Given the description of an element on the screen output the (x, y) to click on. 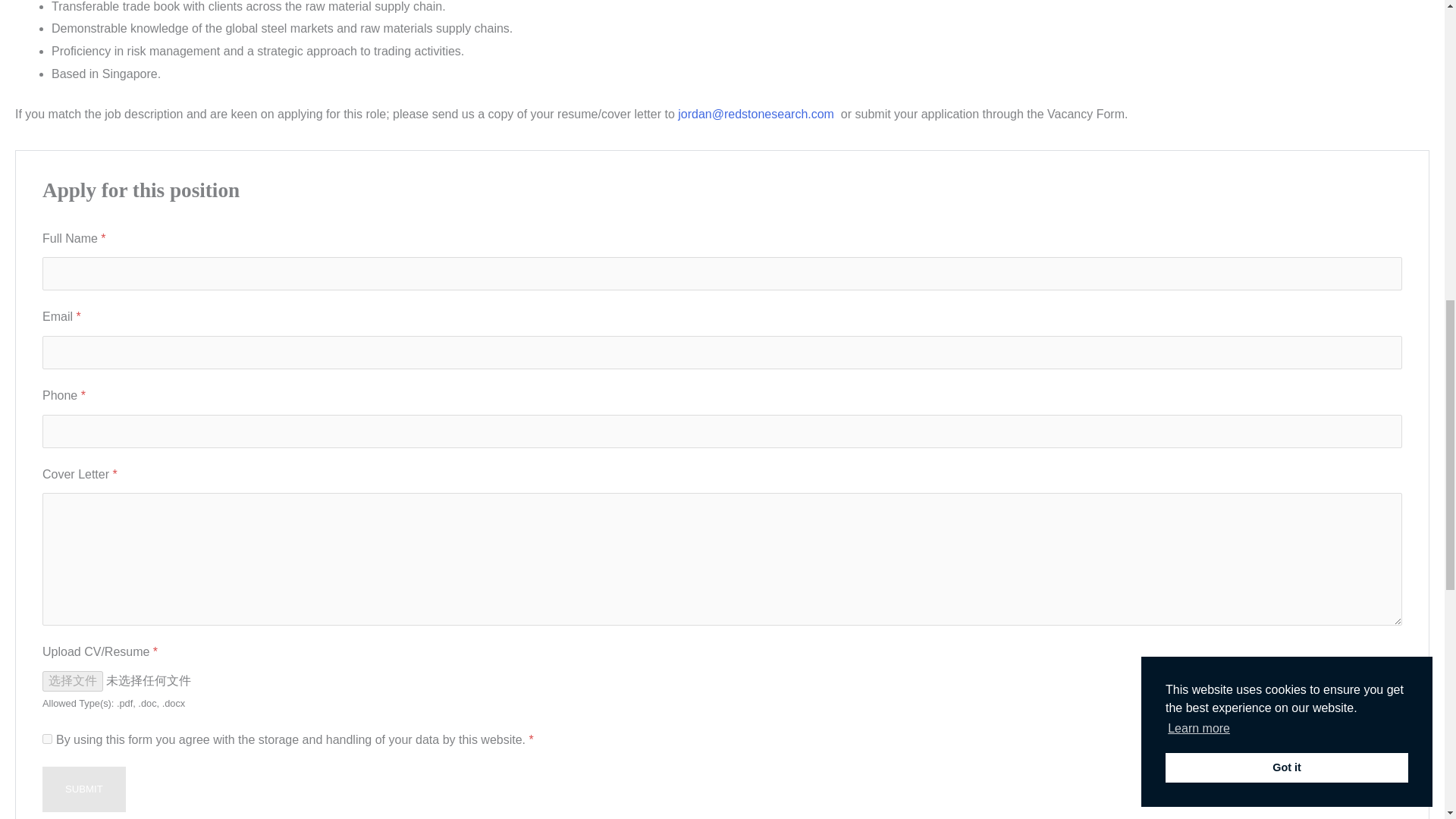
Submit (83, 789)
yes (47, 738)
